Given the description of an element on the screen output the (x, y) to click on. 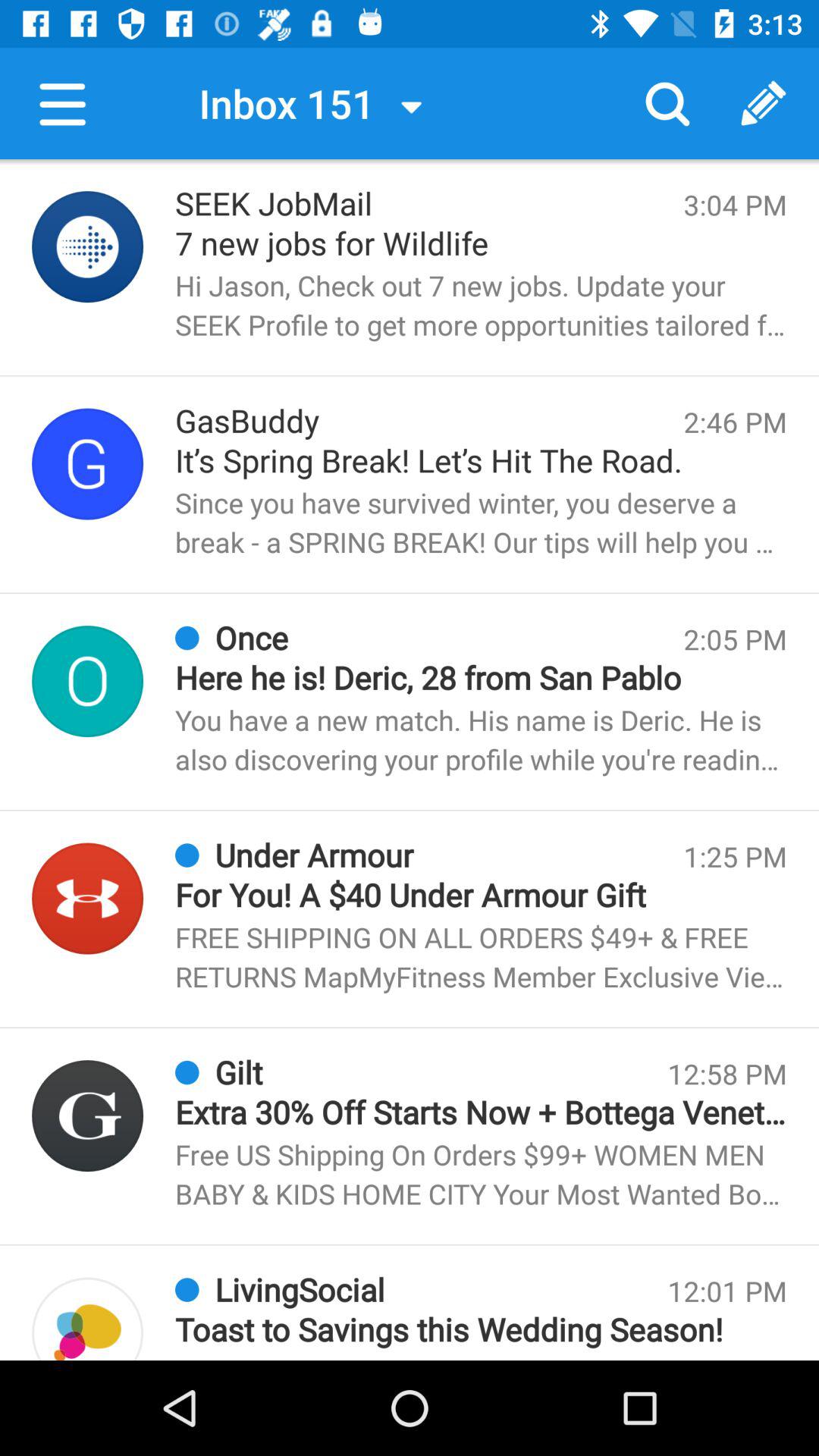
open email option (87, 898)
